Given the description of an element on the screen output the (x, y) to click on. 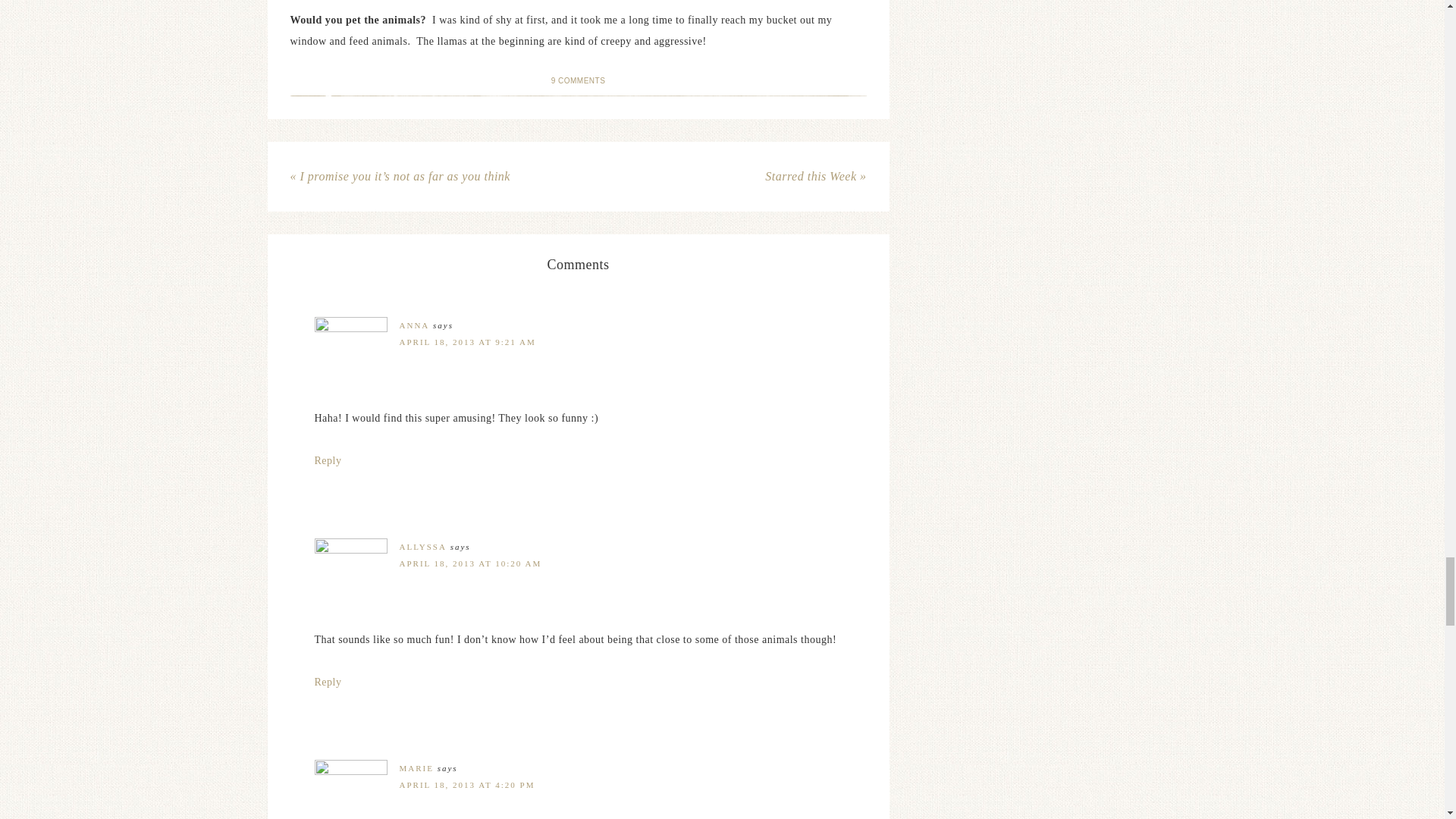
9 COMMENTS (578, 80)
Reply (327, 460)
ANNA (413, 325)
APRIL 18, 2013 AT 9:21 AM (466, 341)
MARIE (415, 768)
APRIL 18, 2013 AT 10:20 AM (469, 563)
ALLYSSA (421, 546)
APRIL 18, 2013 AT 4:20 PM (466, 784)
Reply (327, 681)
